Given the description of an element on the screen output the (x, y) to click on. 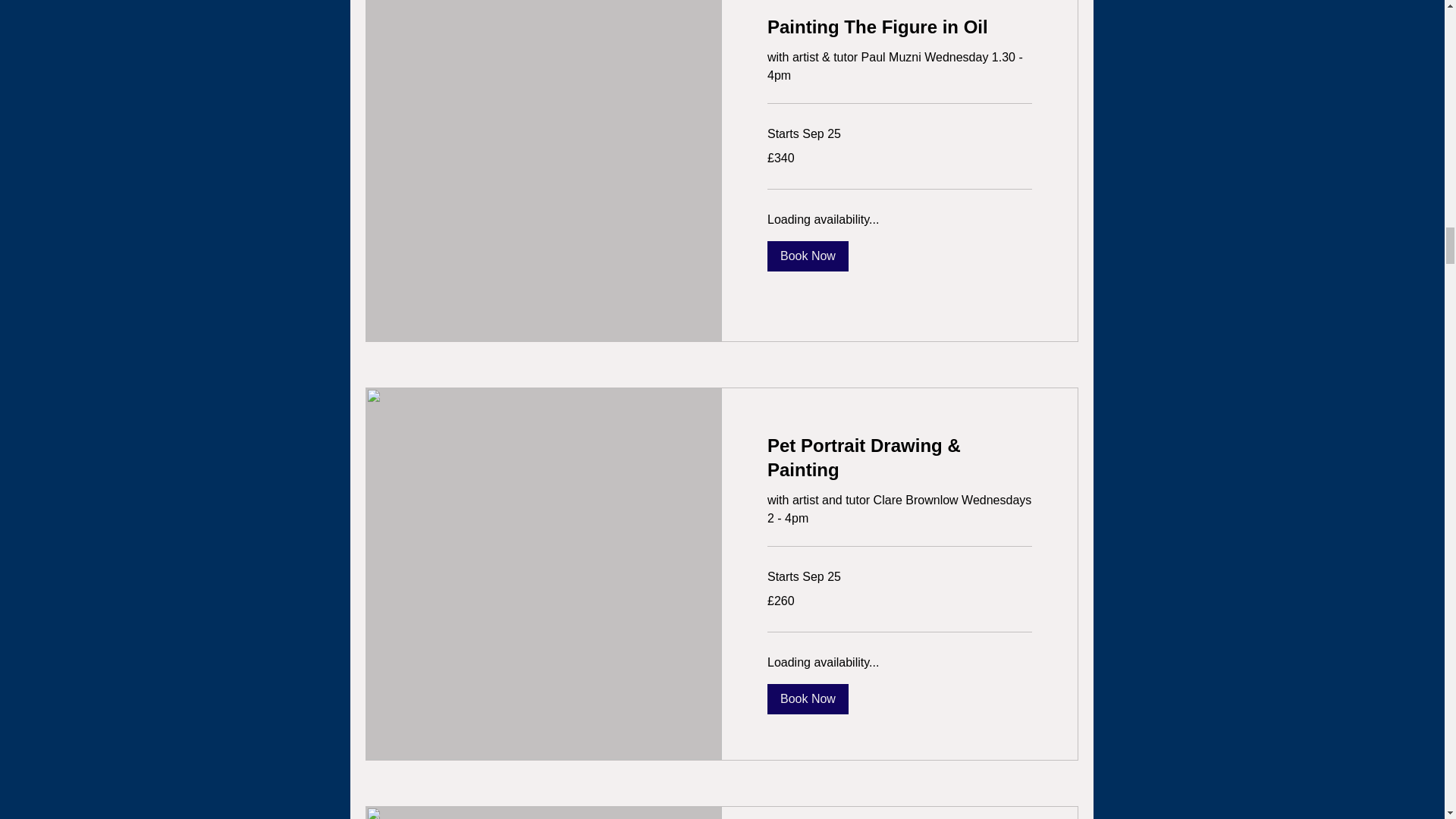
Book Now (807, 698)
Book Now (807, 255)
Painting The Figure in Oil (899, 26)
